Given the description of an element on the screen output the (x, y) to click on. 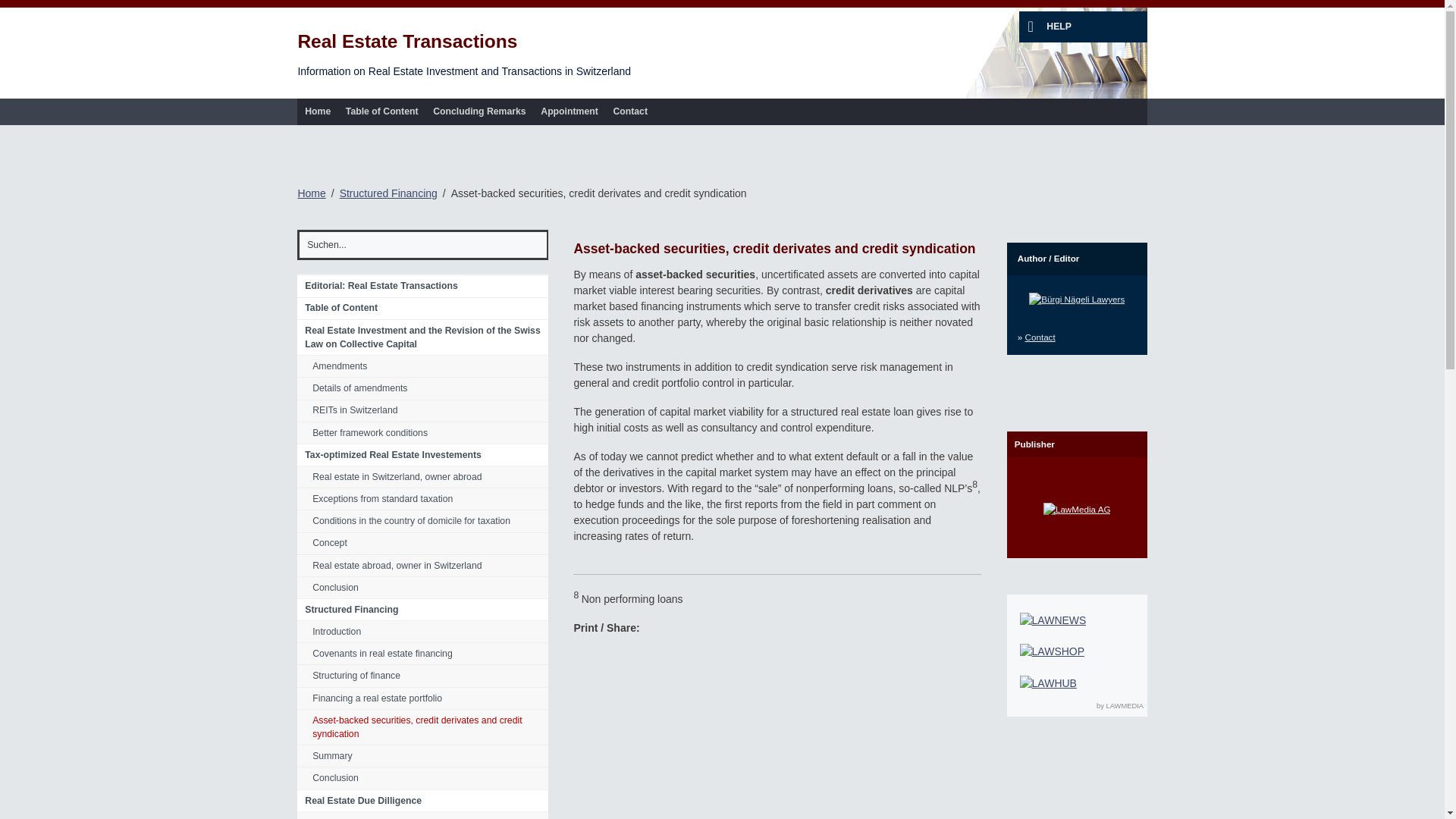
LAWHUB (1048, 683)
Real estate in Switzerland, owner abroad (422, 477)
Conditions in the country of domicile for taxation (422, 521)
REITs in Switzerland (422, 411)
Appointment (568, 111)
Concluding Remarks (478, 111)
Editorial: Real Estate Transactions (422, 286)
Amendments (422, 366)
Conclusion (422, 587)
LawMedia AG (1076, 509)
